Given the description of an element on the screen output the (x, y) to click on. 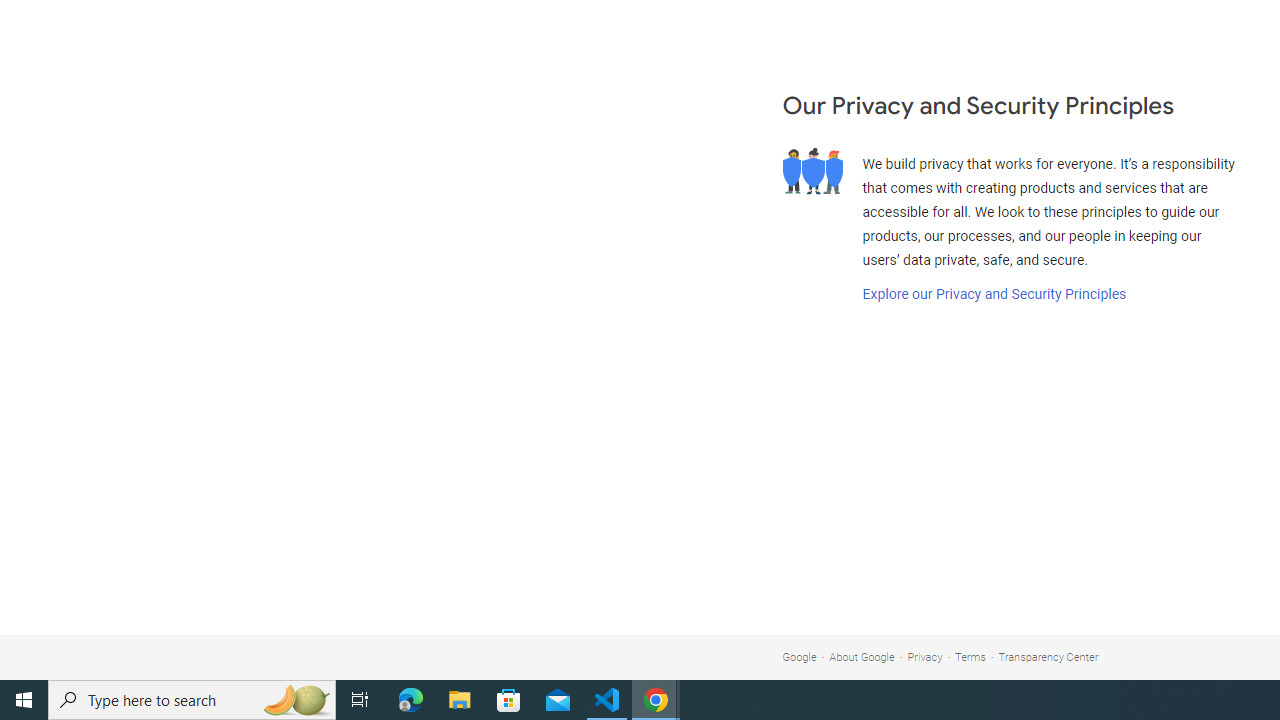
Transparency Center (1048, 656)
Explore our Privacy and Security Principles (993, 294)
About Google (861, 656)
